Given the description of an element on the screen output the (x, y) to click on. 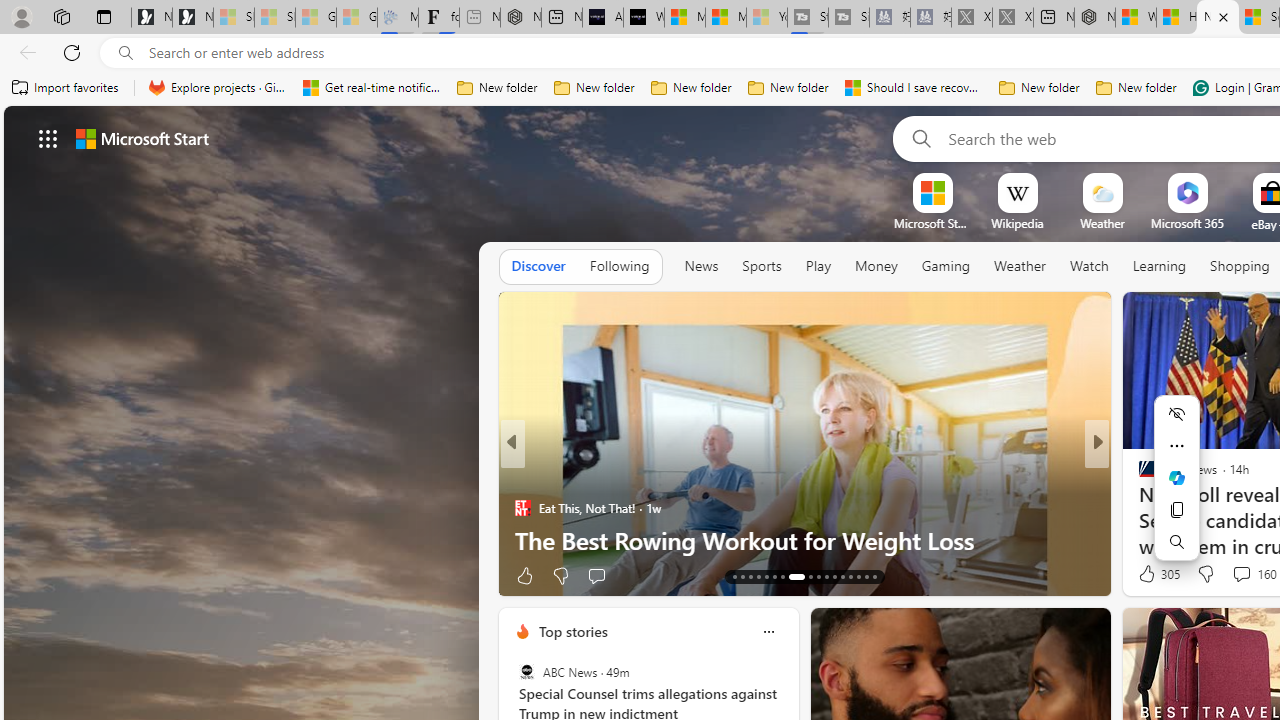
View comments 26 Comment (613, 575)
Ad (1142, 575)
Close tab (1222, 16)
Washington Examiner (522, 475)
AutomationID: tab-24 (833, 576)
20 Like (1149, 574)
Forge of Empires (1175, 507)
Discover (538, 267)
View comments 6 Comment (1234, 575)
Ask Copilot (1176, 477)
New folder (1136, 88)
AutomationID: tab-25 (842, 576)
Gaming (945, 267)
